Given the description of an element on the screen output the (x, y) to click on. 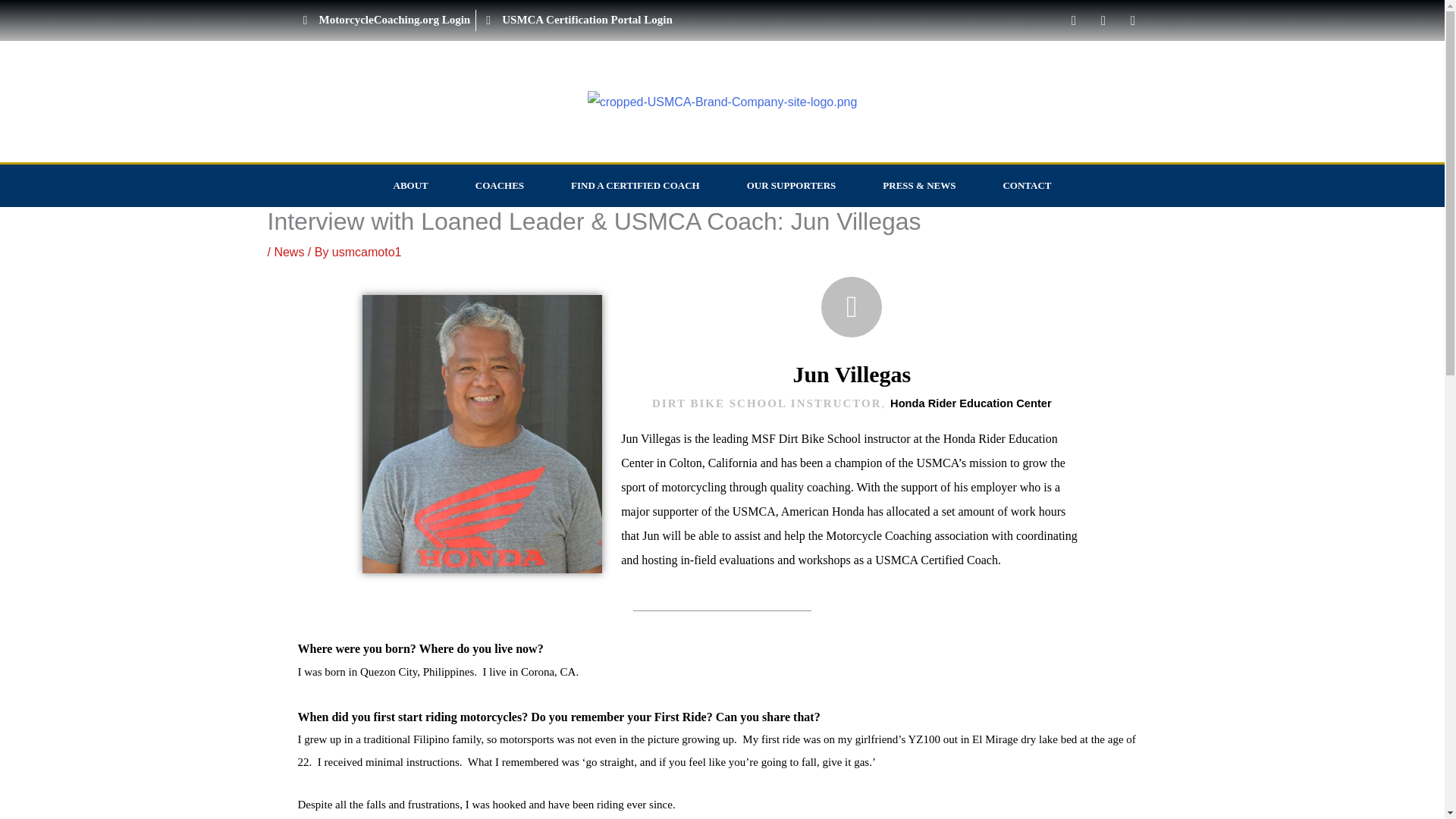
Facebook-f (1103, 20)
USMCA Certification Portal Login (69, 20)
ABOUT (410, 185)
FIND A CERTIFIED COACH (635, 185)
COACHES (499, 185)
View all posts by usmcamoto1 (366, 251)
OUR SUPPORTERS (791, 185)
Twitter (1132, 20)
News (288, 251)
usmcamoto1 (366, 251)
